Given the description of an element on the screen output the (x, y) to click on. 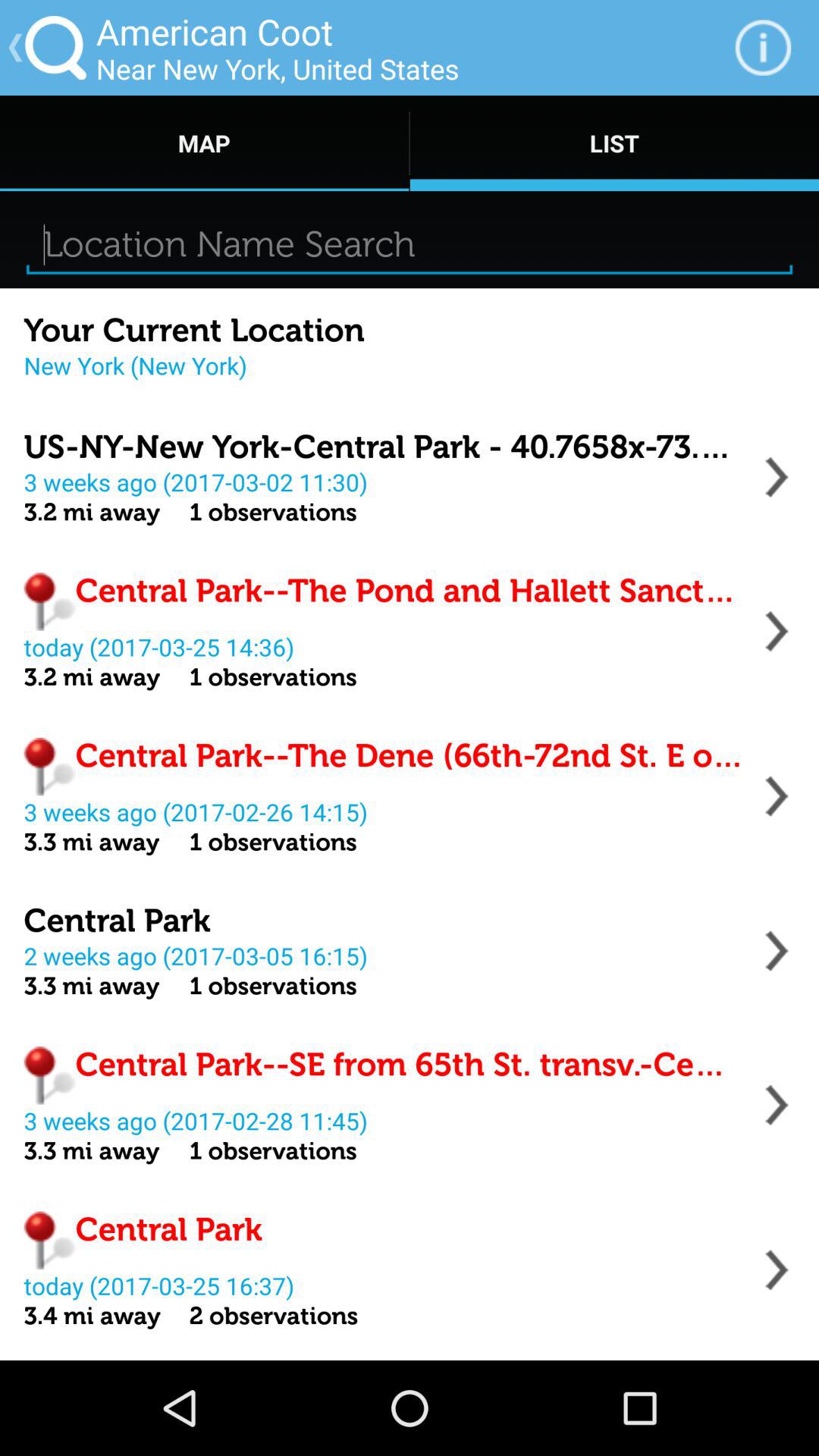
select location (776, 796)
